Given the description of an element on the screen output the (x, y) to click on. 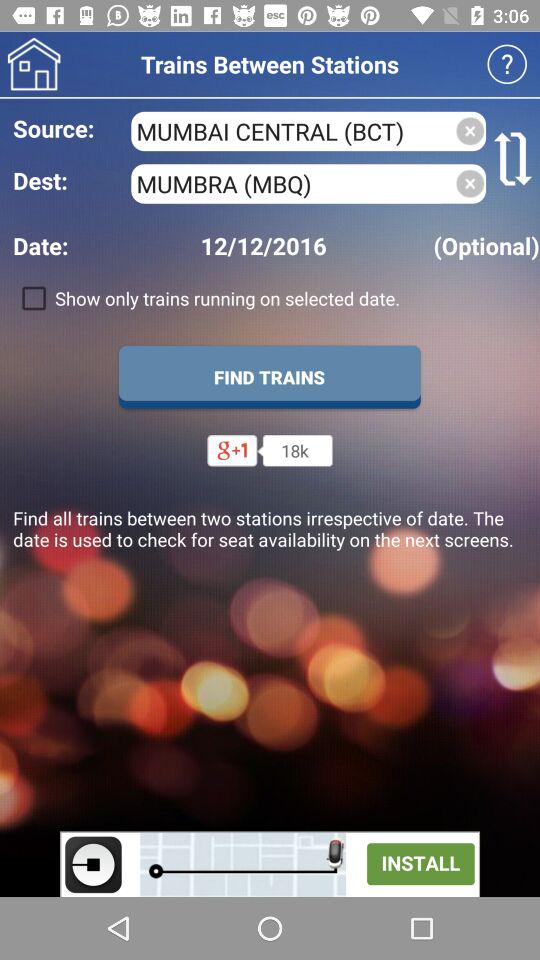
open faq (506, 64)
